Given the description of an element on the screen output the (x, y) to click on. 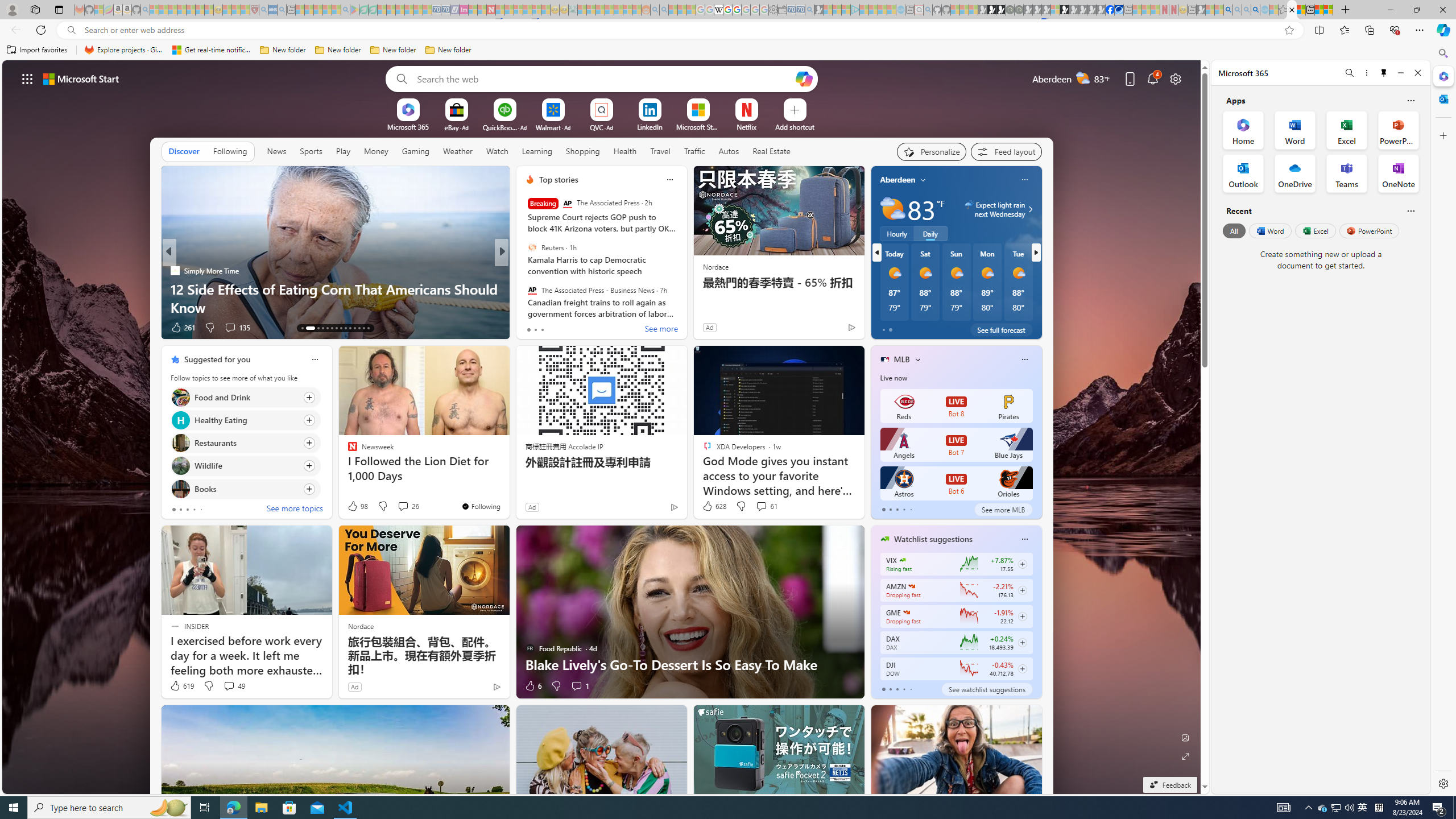
utah sues federal government - Search - Sleeping (281, 9)
Following (229, 151)
View comments 81 Comment (580, 327)
Sports (310, 151)
Edit Background (1185, 737)
Click to follow topic Books (245, 488)
Books (180, 488)
Travel (660, 151)
Future Focus Report 2024 - Sleeping (1018, 9)
